Given the description of an element on the screen output the (x, y) to click on. 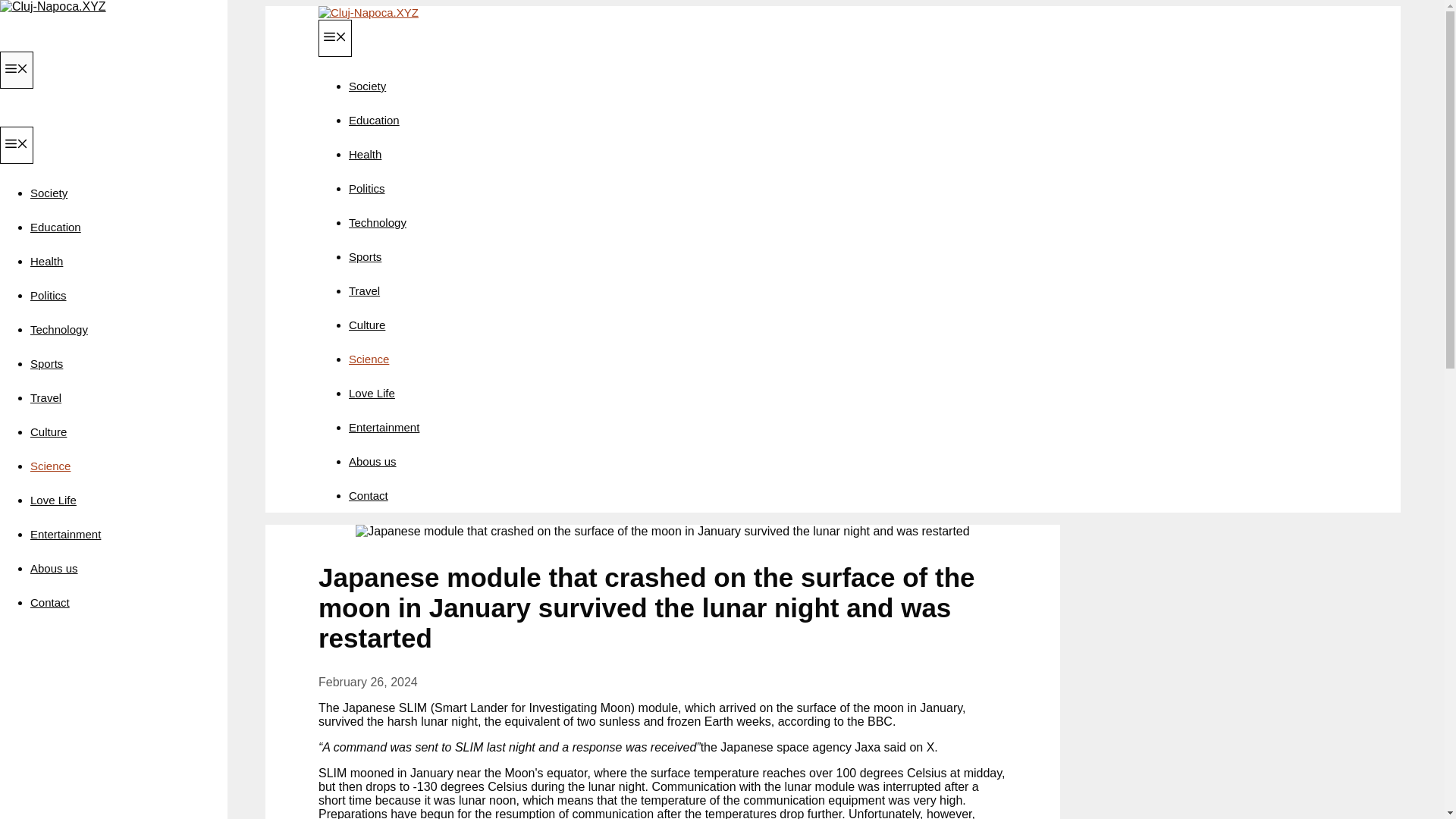
Travel (45, 397)
Society (367, 85)
Technology (377, 222)
Contact (368, 495)
Sports (46, 363)
Menu (16, 144)
Science (368, 358)
Technology (58, 328)
Society (48, 192)
Love Life (371, 392)
Love Life (53, 499)
Politics (367, 187)
Cluj-Napoca.XYZ (368, 11)
